Given the description of an element on the screen output the (x, y) to click on. 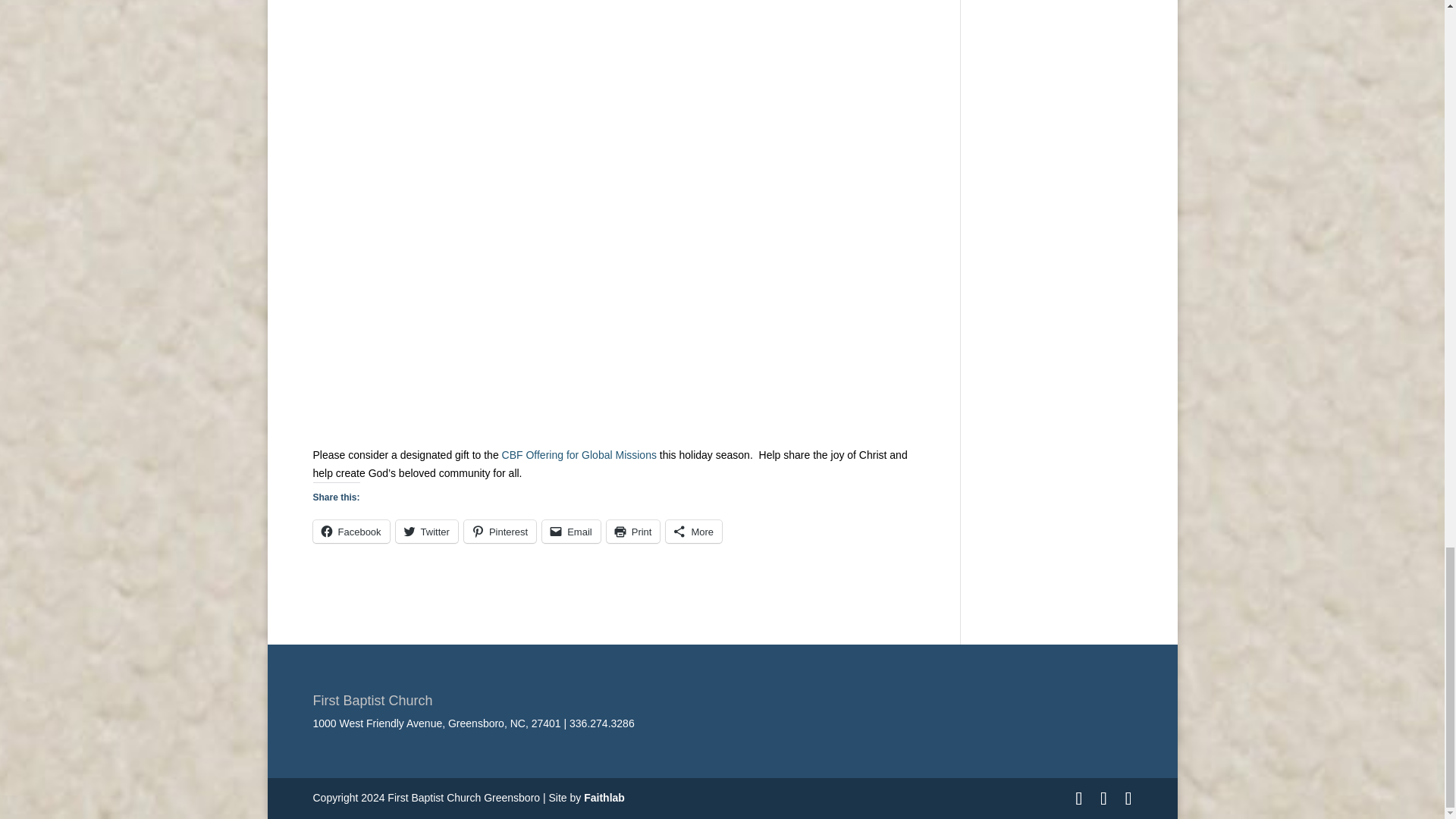
Click to email a link to a friend (570, 531)
Click to print (634, 531)
Click to share on Facebook (350, 531)
Click to share on Twitter (427, 531)
Click to share on Pinterest (499, 531)
